Given the description of an element on the screen output the (x, y) to click on. 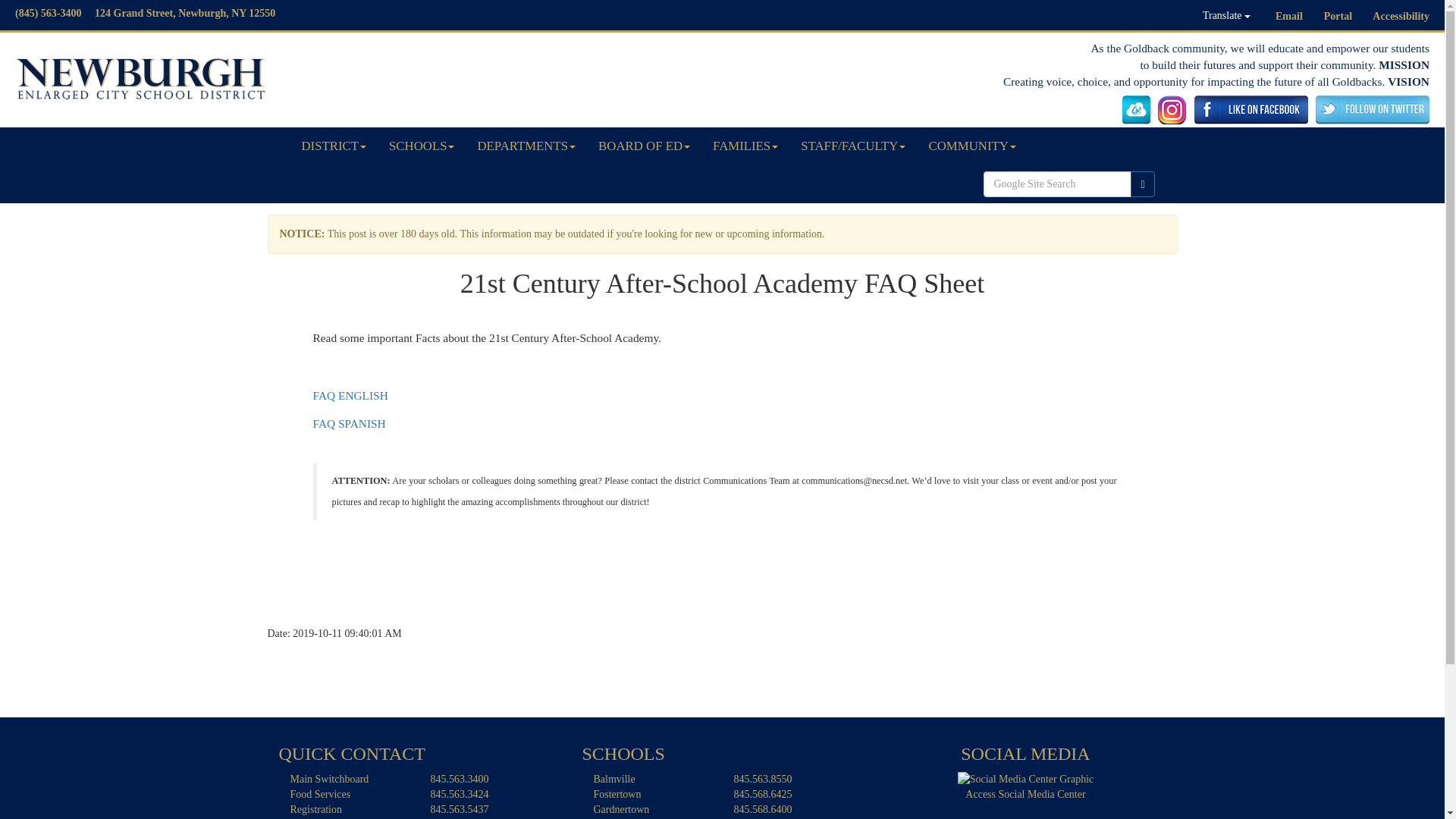
SCHOOLS (421, 146)
Access Social Media Center (1026, 778)
Accessibility (1401, 16)
Translate (1226, 15)
FAQ ENGLISH (350, 395)
Portal (1337, 16)
FAQ SPANISH (349, 422)
Email (1289, 16)
DISTRICT (333, 146)
